Given the description of an element on the screen output the (x, y) to click on. 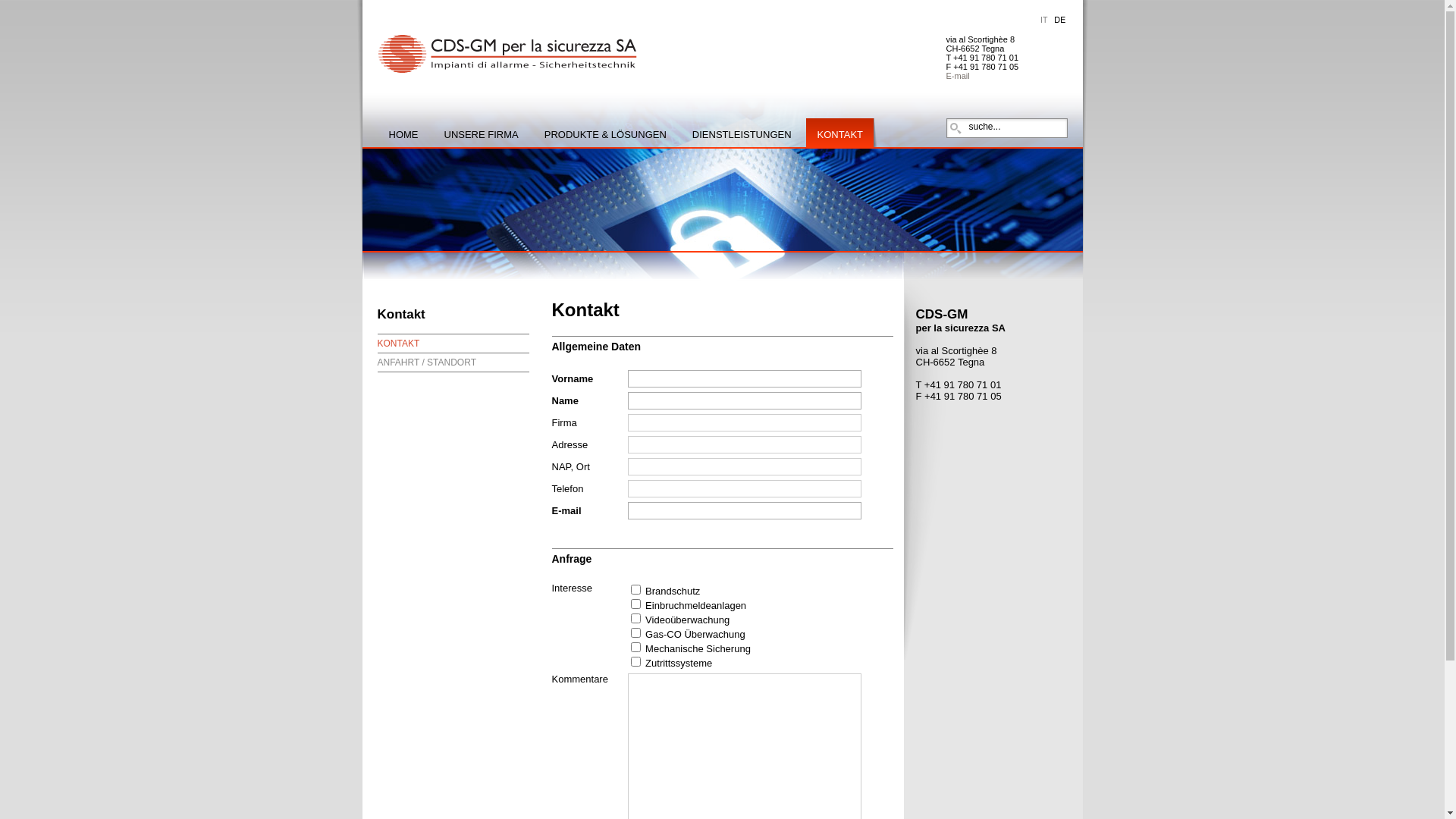
ANFAHRT / STANDORT Element type: text (426, 362)
HOME Element type: text (402, 134)
KONTAKT Element type: text (398, 343)
UNSERE FIRMA Element type: text (481, 134)
DIENSTLEISTUNGEN Element type: text (741, 134)
E-mail Element type: text (957, 75)
KONTAKT Element type: text (839, 134)
